Given the description of an element on the screen output the (x, y) to click on. 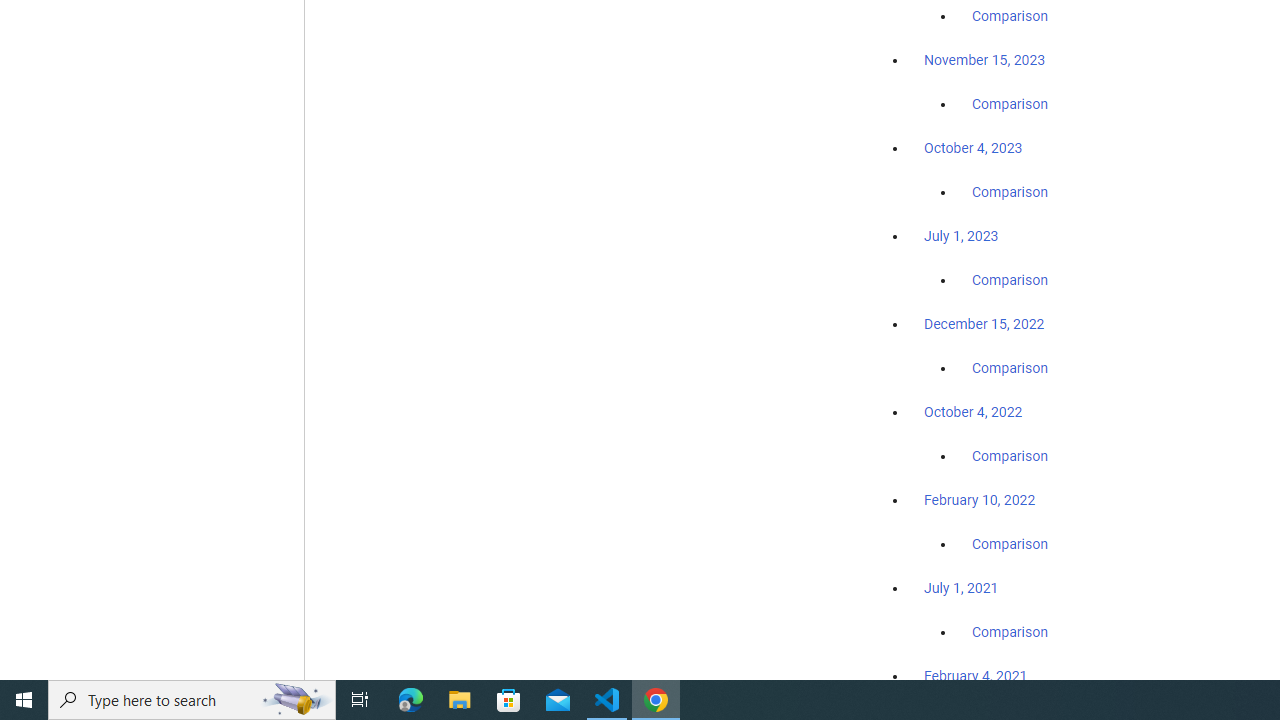
February 10, 2022 (979, 500)
Comparison (1009, 631)
July 1, 2021 (961, 587)
February 4, 2021 (975, 675)
November 15, 2023 (984, 60)
October 4, 2022 (973, 412)
July 1, 2023 (961, 236)
October 4, 2023 (973, 148)
December 15, 2022 (984, 323)
